Given the description of an element on the screen output the (x, y) to click on. 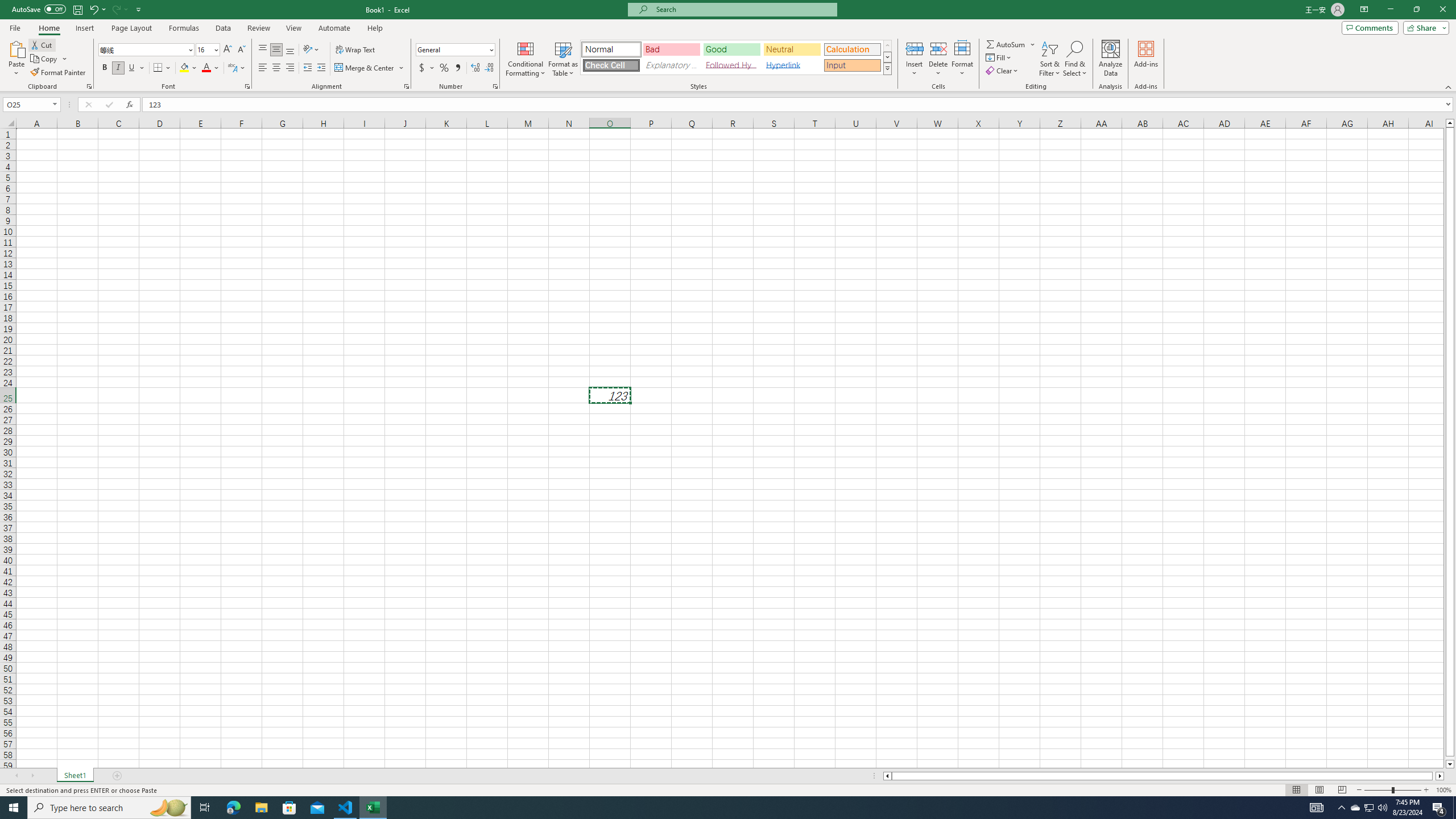
Accounting Number Format (422, 67)
Underline (136, 67)
Copy (45, 58)
Good (731, 49)
Increase Font Size (227, 49)
Merge & Center (369, 67)
